Given the description of an element on the screen output the (x, y) to click on. 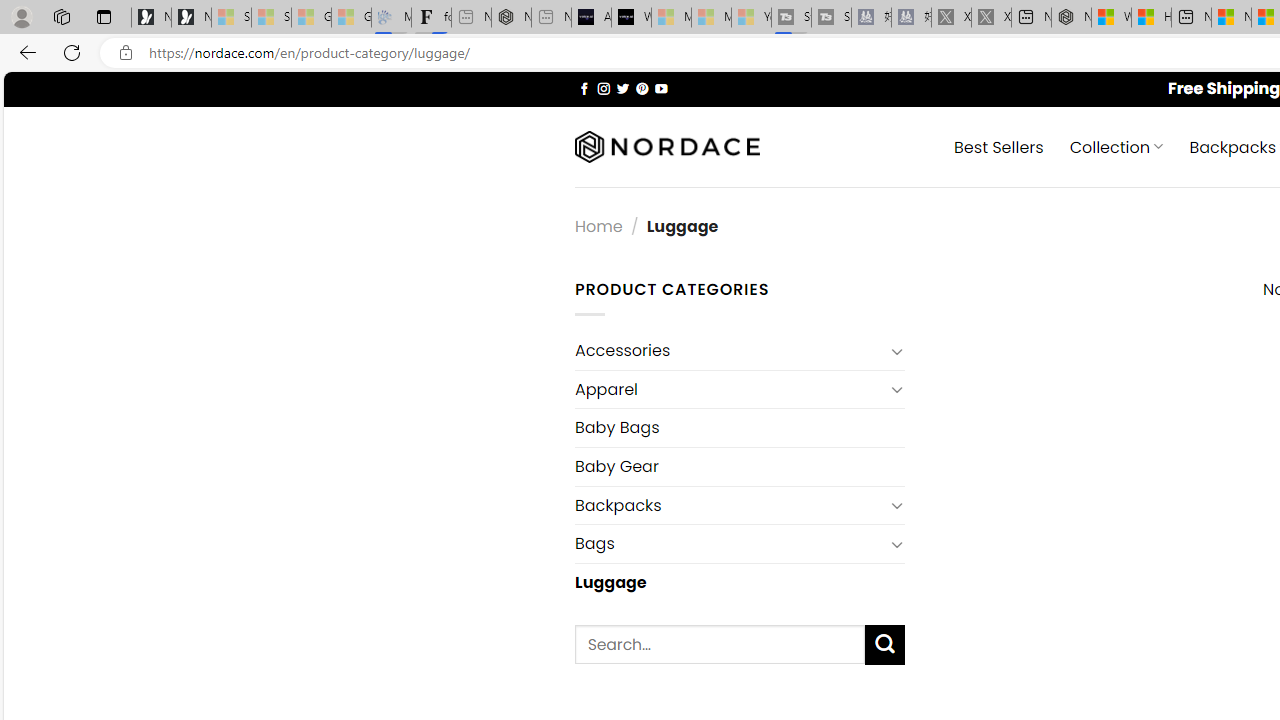
Follow on Facebook (584, 88)
Search for: (720, 644)
Nordace - My Account (1071, 17)
Streaming Coverage | T3 - Sleeping (791, 17)
What's the best AI voice generator? - voice.ai (631, 17)
Wildlife - MSN (1111, 17)
Bags (729, 543)
Newsletter Sign Up (191, 17)
Baby Bags (739, 427)
